Given the description of an element on the screen output the (x, y) to click on. 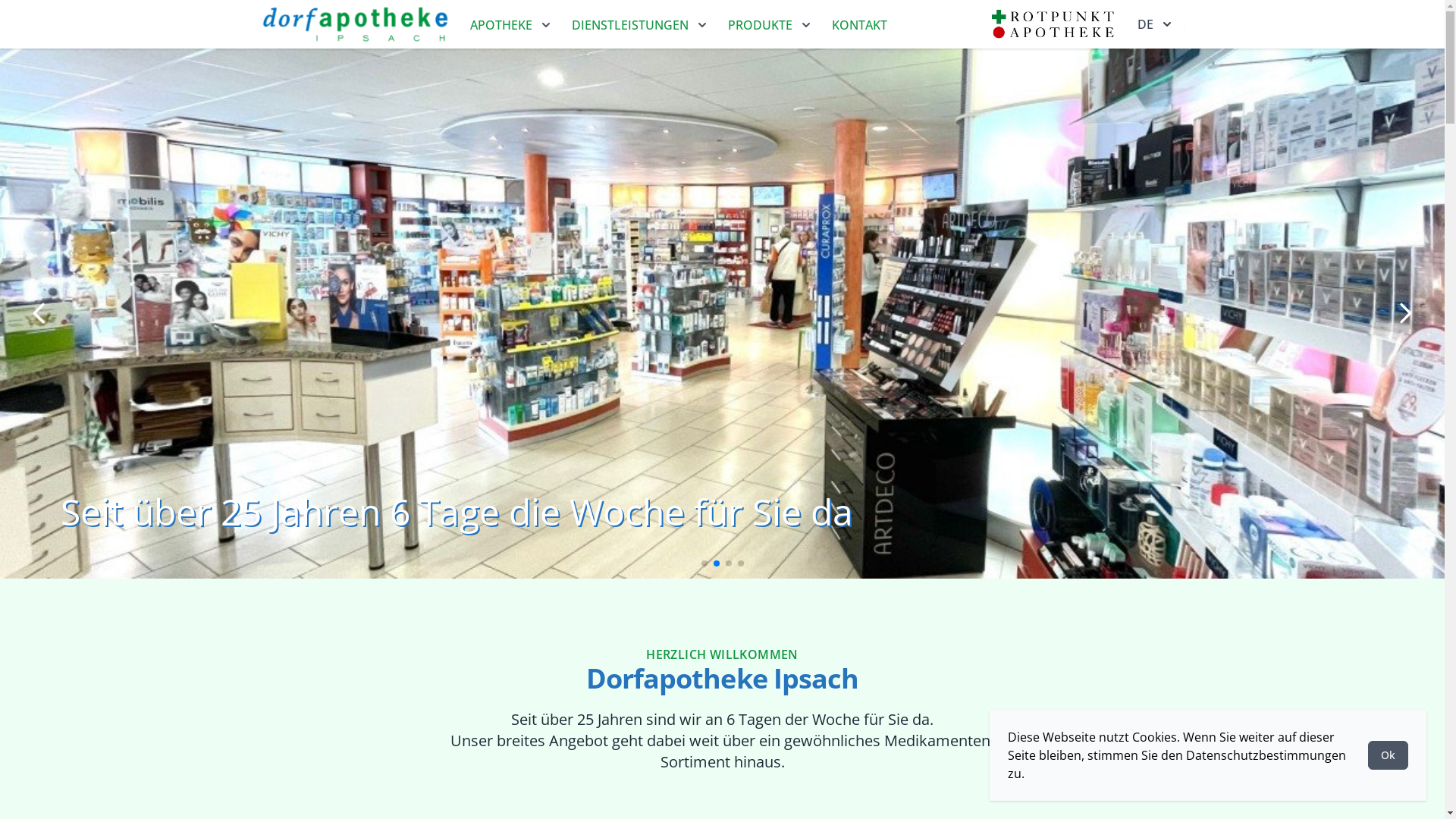
KONTAKT Element type: text (859, 24)
DE Element type: text (1154, 23)
APOTHEKE Element type: text (511, 24)
DIENSTLEISTUNGEN Element type: text (640, 24)
Ok Element type: text (1388, 754)
PRODUKTE Element type: text (770, 24)
